Given the description of an element on the screen output the (x, y) to click on. 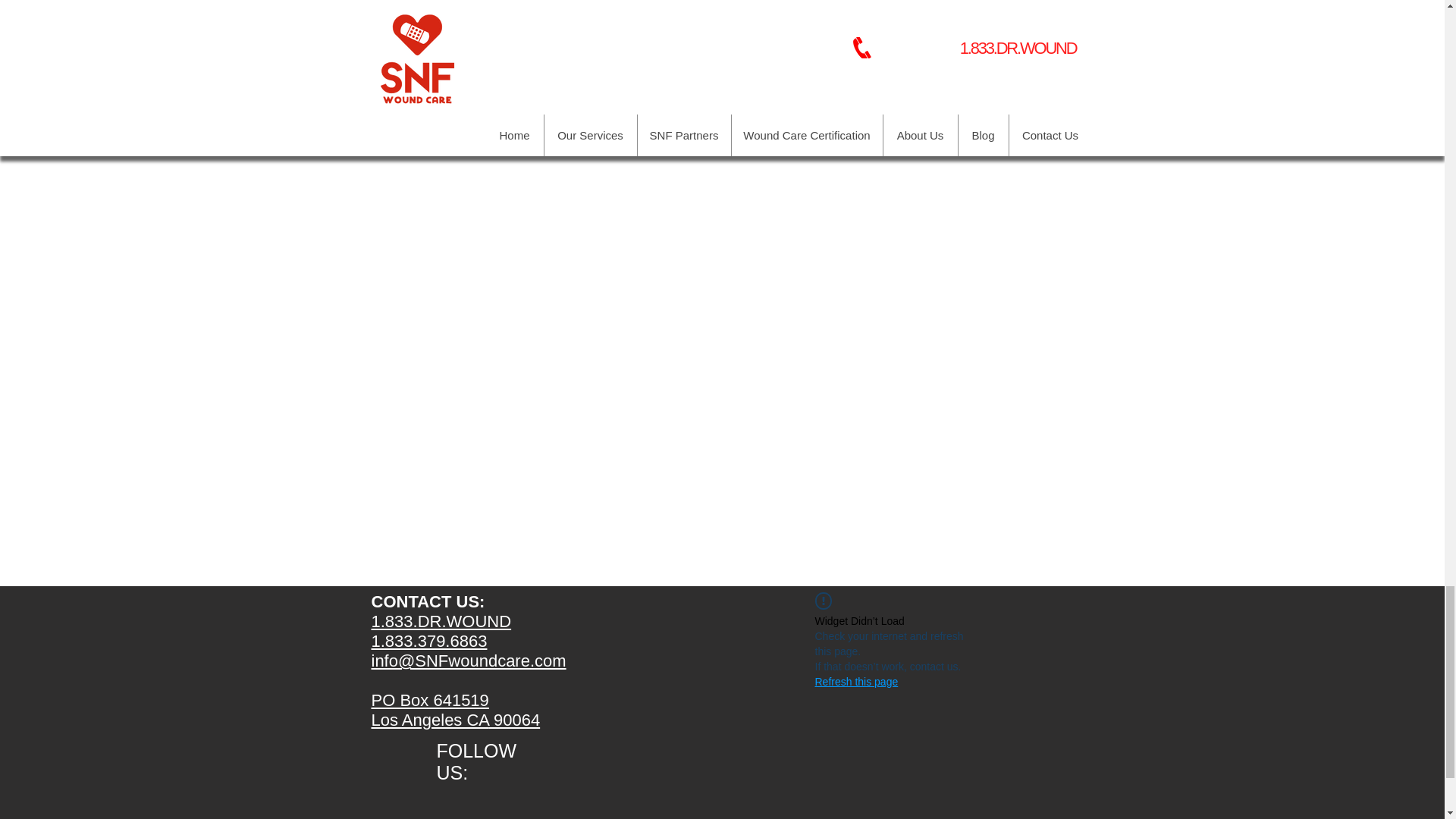
1.833.379.6863 (429, 640)
1.833.DR.WOUND (441, 620)
Refresh this page (855, 681)
